Given the description of an element on the screen output the (x, y) to click on. 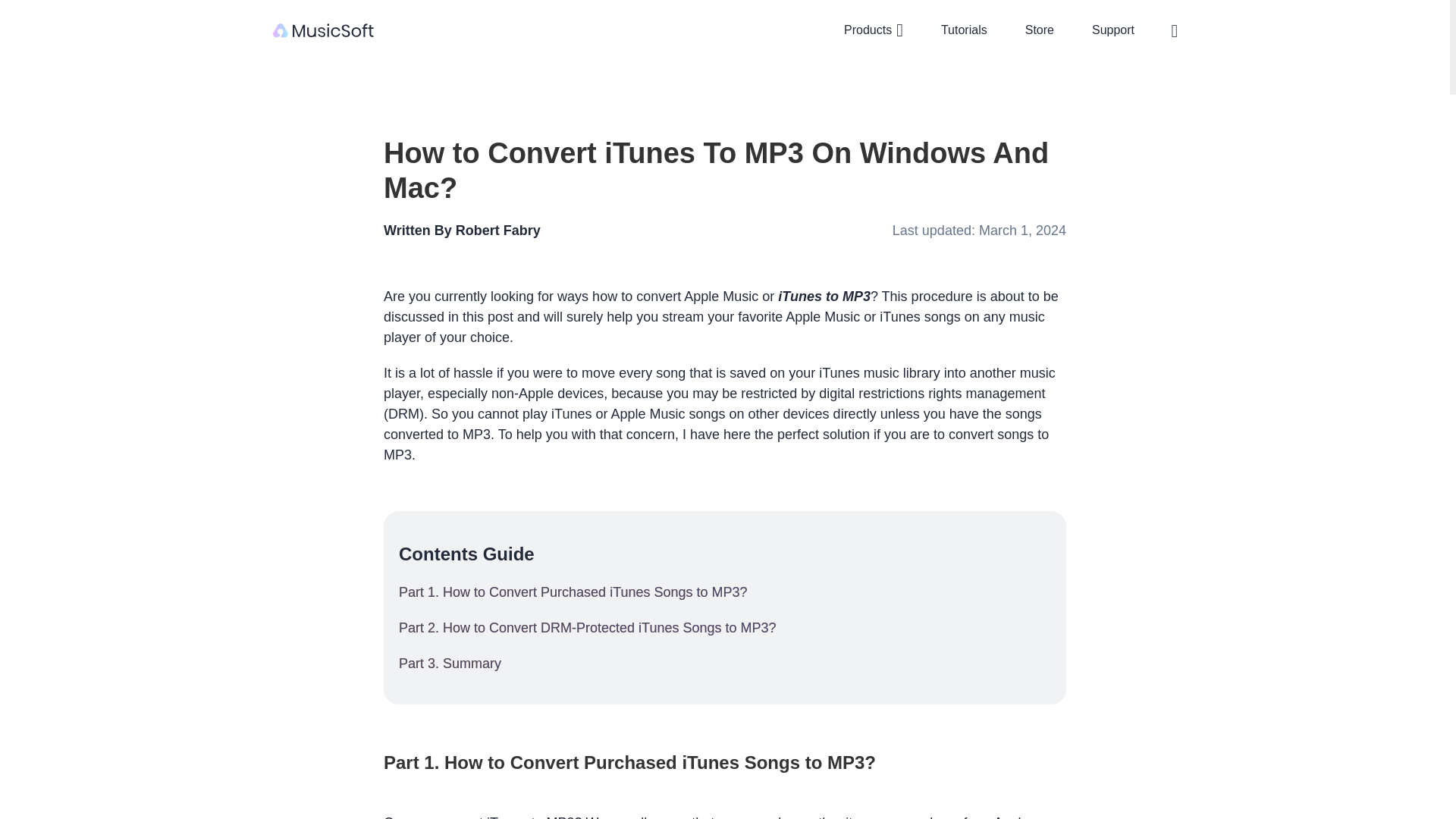
Part 2. How to Convert DRM-Protected iTunes Songs to MP3? (724, 628)
Support (1113, 29)
Tutorials (964, 29)
Part 1. How to Convert Purchased iTunes Songs to MP3? (724, 592)
Store (1039, 29)
Part 2. How to Convert DRM-Protected iTunes Songs to MP3? (724, 628)
Part 3. Summary (724, 663)
Part 1. How to Convert Purchased iTunes Songs to MP3? (724, 592)
Part 3. Summary (724, 663)
